Given the description of an element on the screen output the (x, y) to click on. 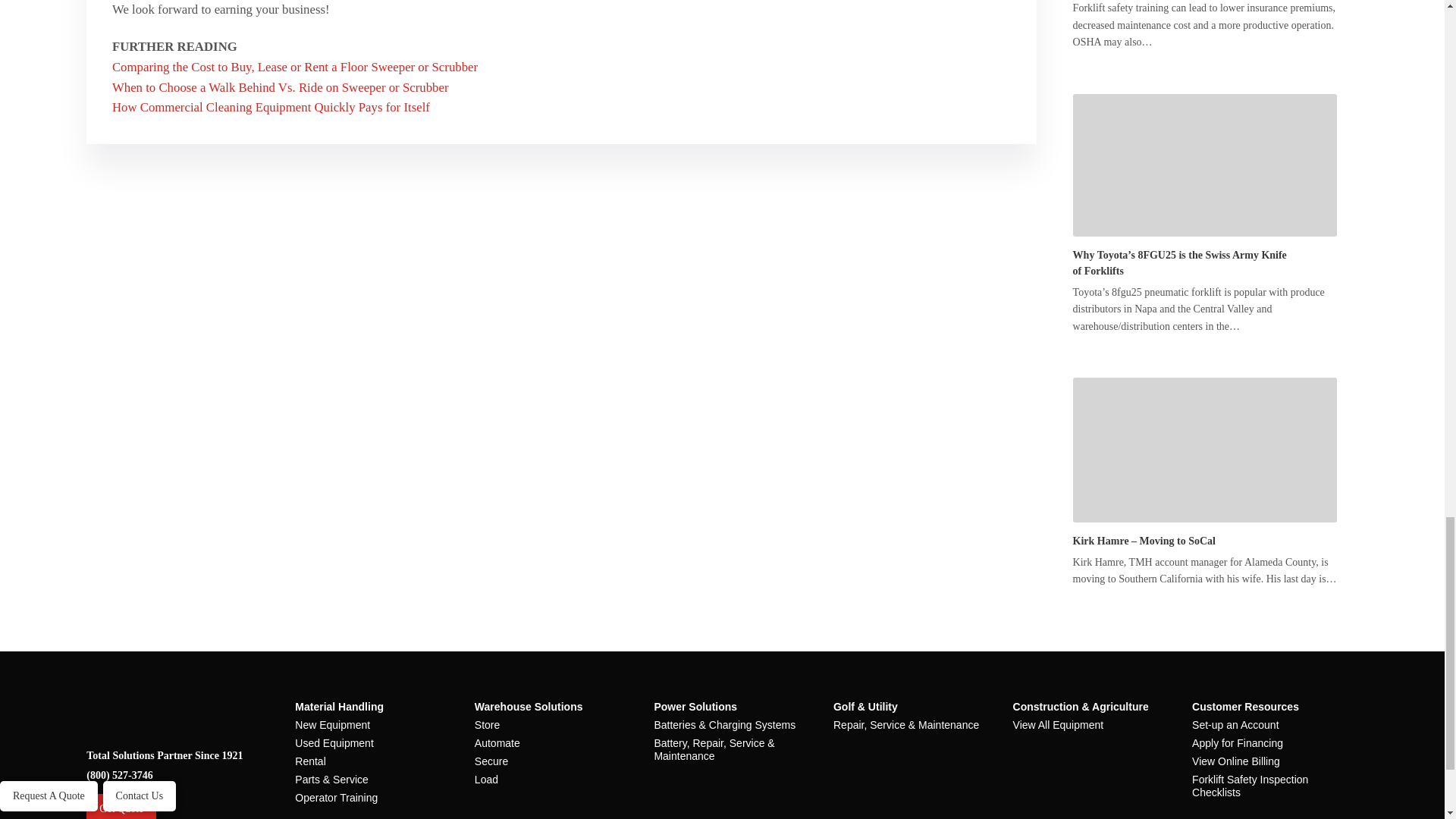
When to Choose a Walk Behind Vs. Ride on Sweeper or Scrubber (280, 87)
How Commercial Cleaning Equipment Quickly Pays for Itself (270, 106)
